Given the description of an element on the screen output the (x, y) to click on. 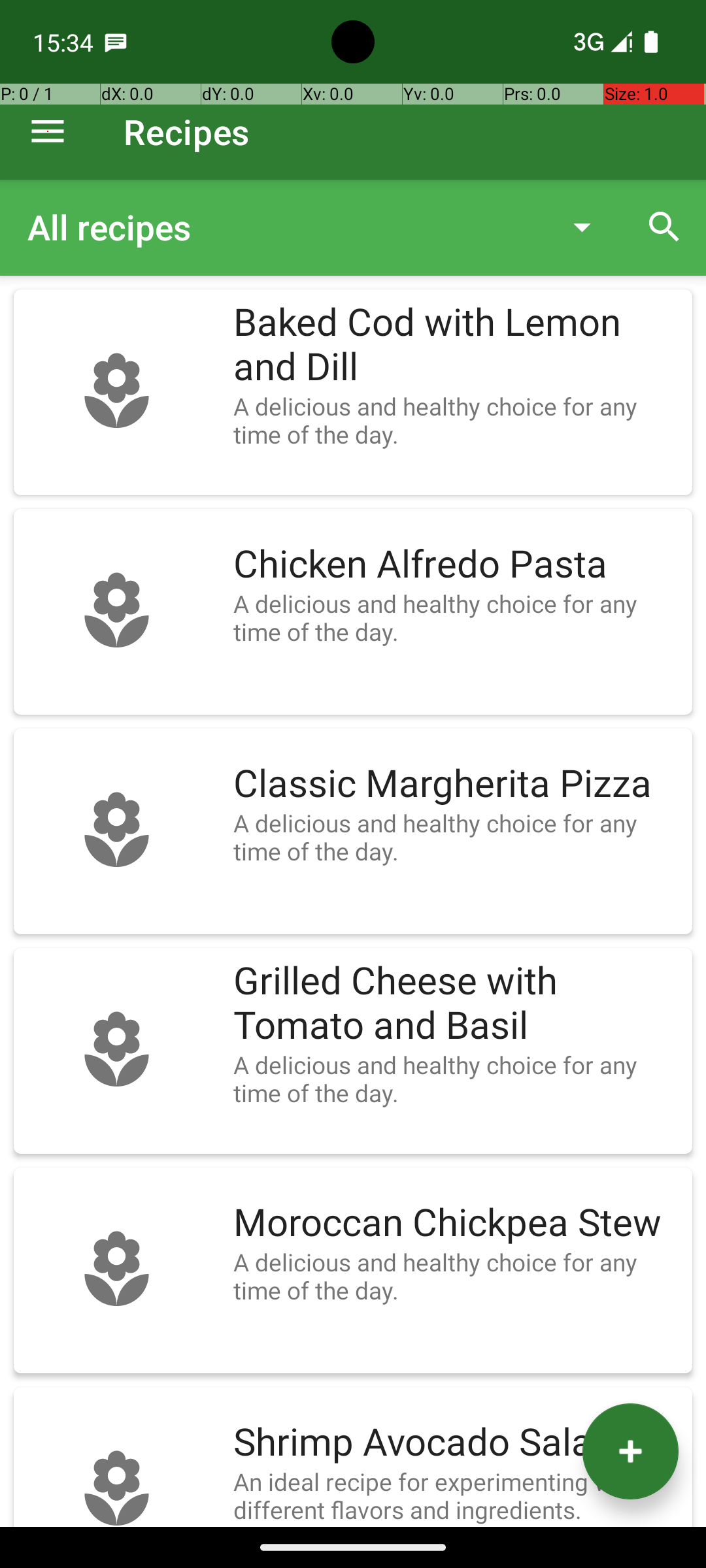
Classic Margherita Pizza Element type: android.widget.TextView (455, 783)
Grilled Cheese with Tomato and Basil Element type: android.widget.TextView (455, 1003)
Moroccan Chickpea Stew Element type: android.widget.TextView (455, 1222)
Shrimp Avocado Salad Element type: android.widget.TextView (455, 1442)
